Given the description of an element on the screen output the (x, y) to click on. 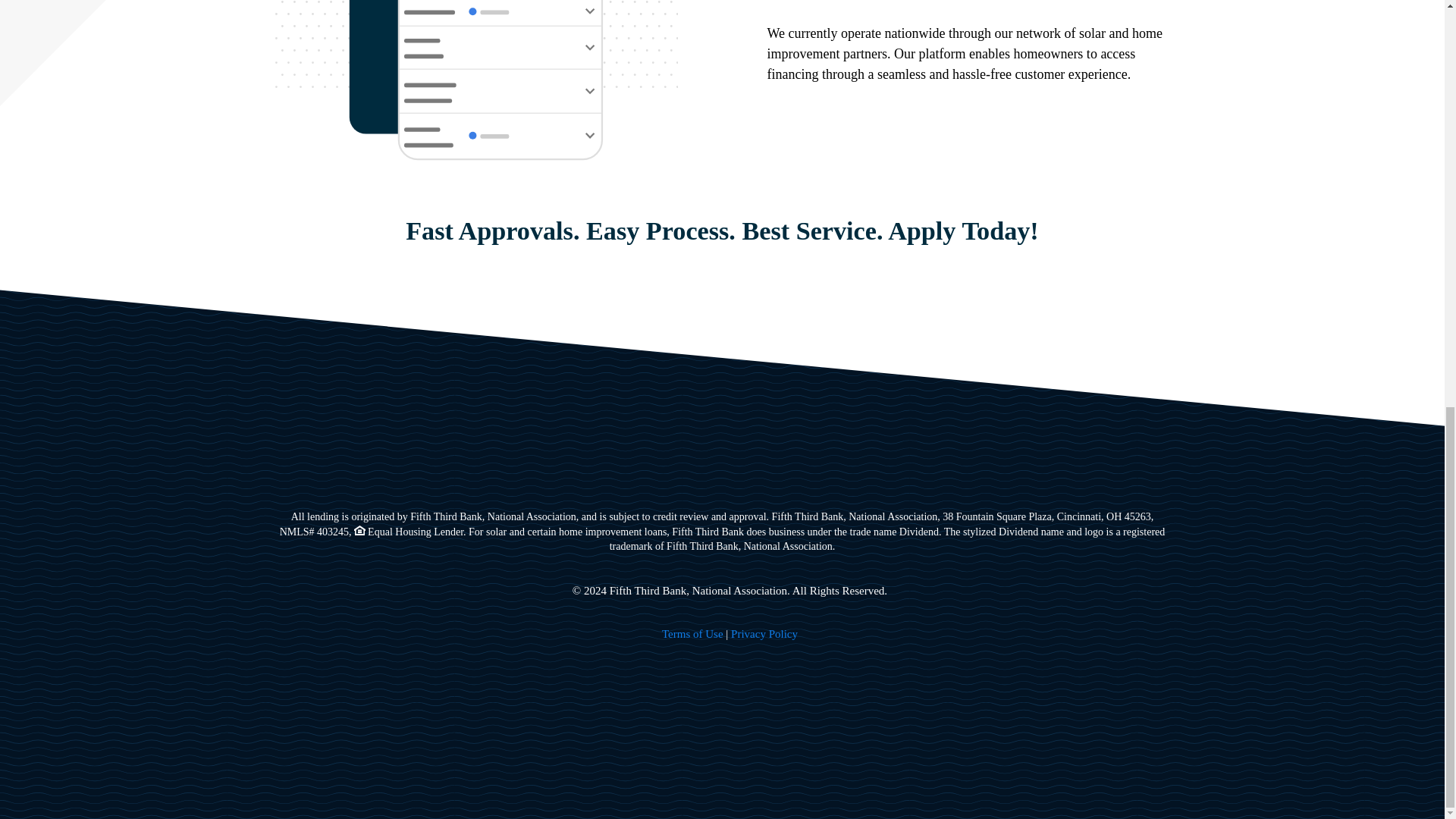
Terms of Use (692, 633)
Privacy Policy (763, 633)
